Given the description of an element on the screen output the (x, y) to click on. 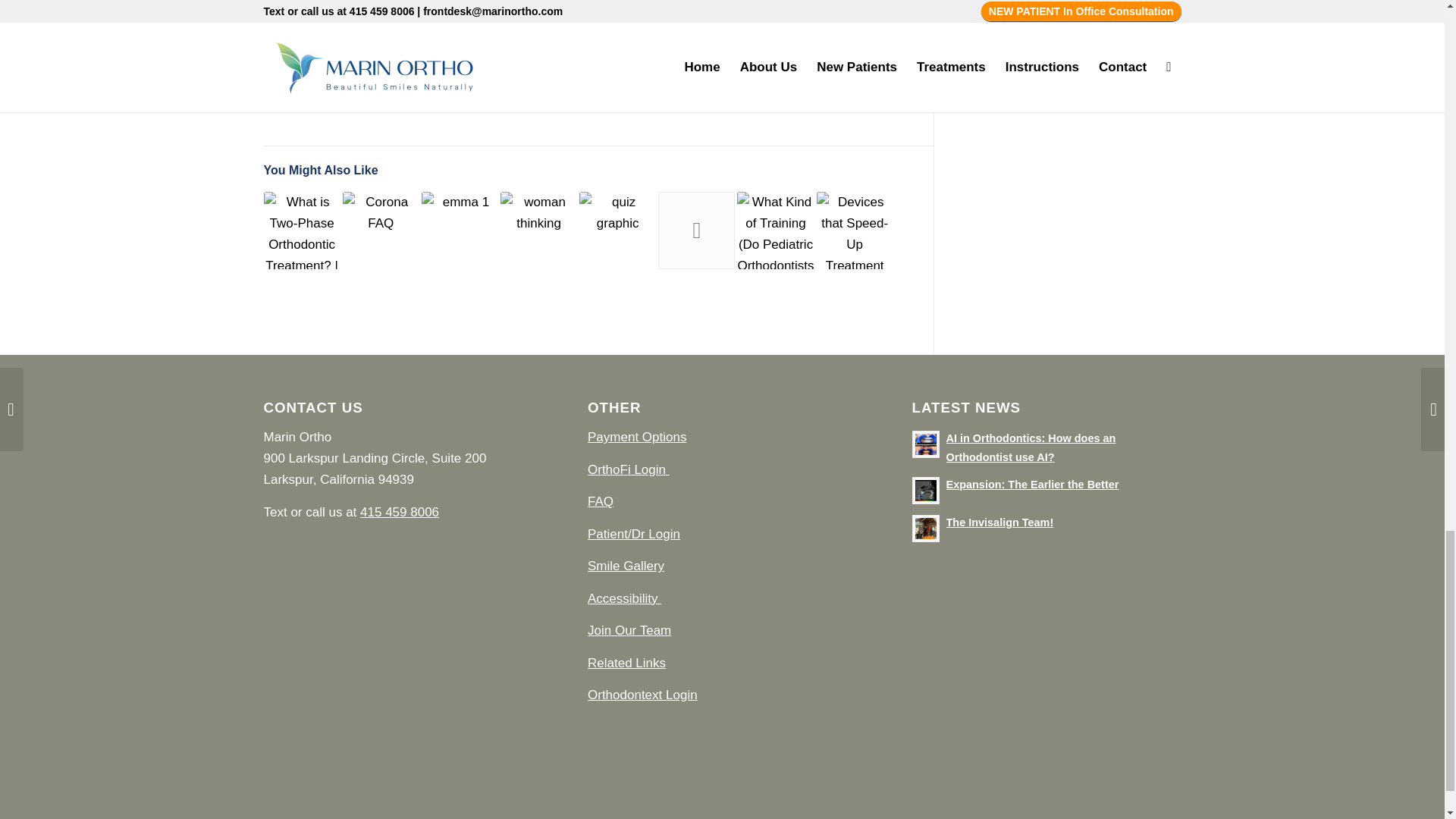
How to Maintain Your Braces (459, 229)
